Given the description of an element on the screen output the (x, y) to click on. 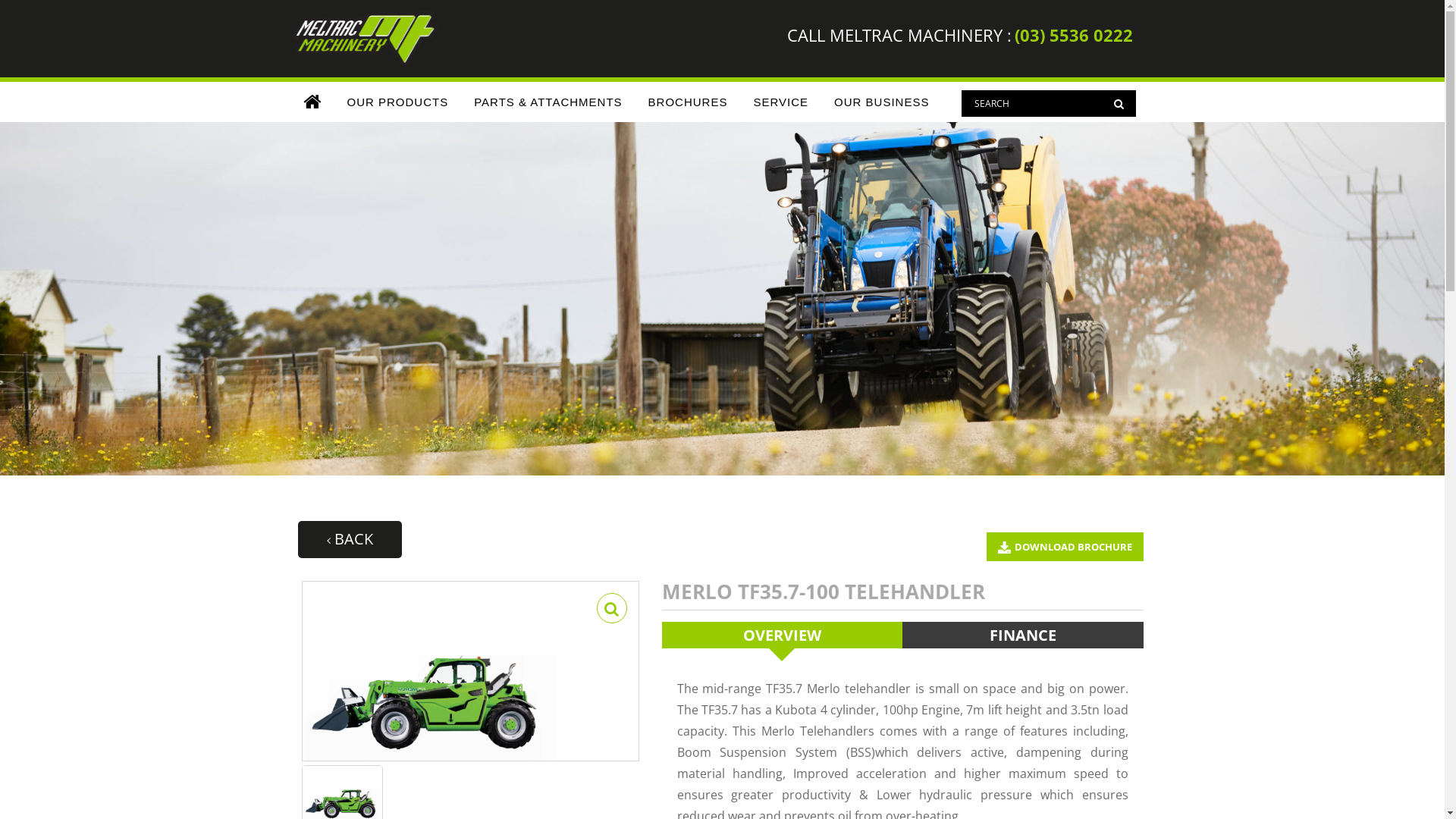
PARTS & ATTACHMENTS Element type: text (547, 101)
 BACK Element type: text (349, 539)
BROCHURES Element type: text (687, 101)
OUR PRODUCTS Element type: text (397, 101)
OUR BUSINESS Element type: text (881, 101)
SERVICE Element type: text (780, 101)
Search Element type: hover (1048, 103)
DOWNLOAD BROCHURE Element type: text (1063, 546)
(03) 5536 0222 Element type: text (1073, 34)
